Given the description of an element on the screen output the (x, y) to click on. 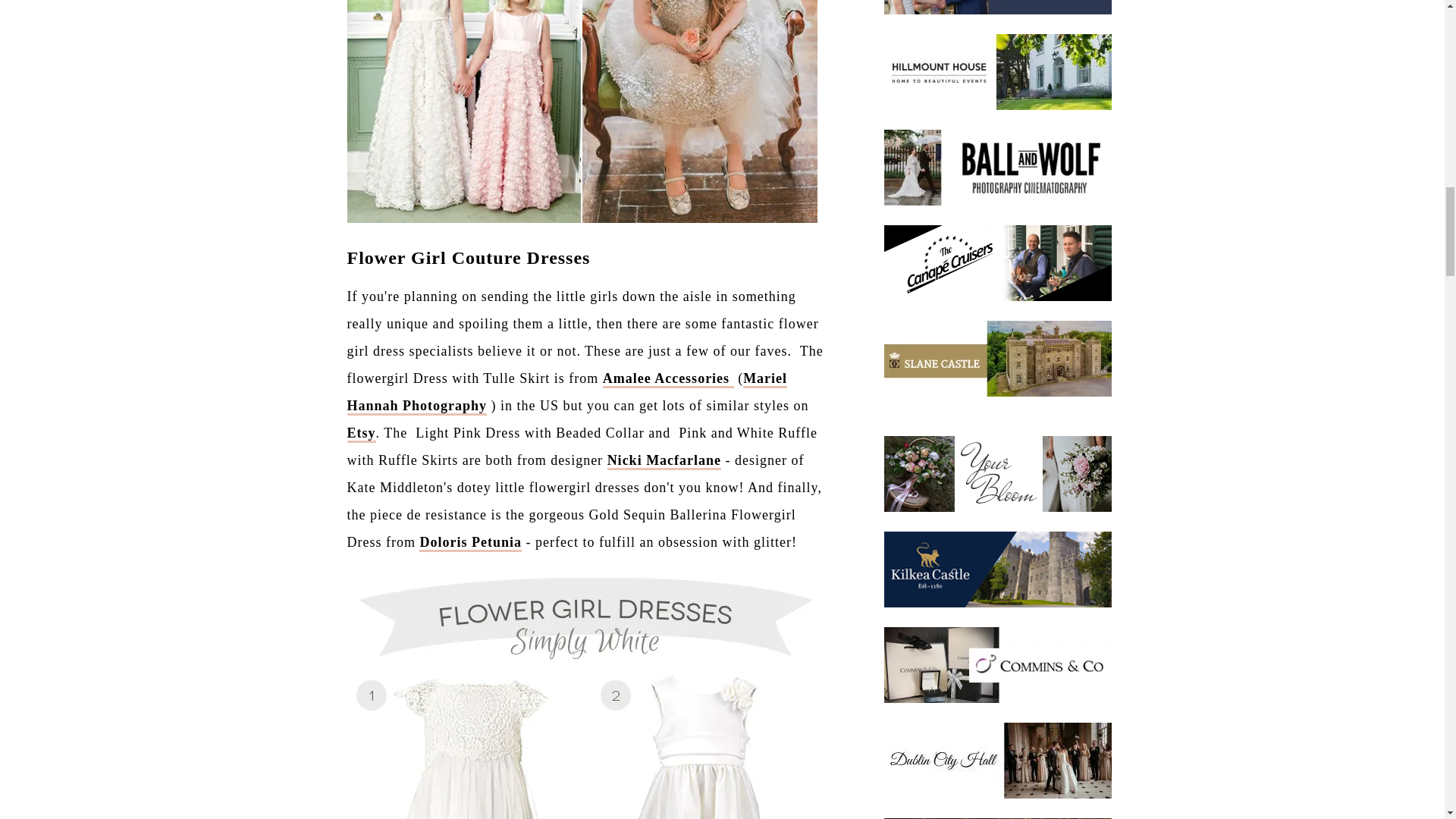
mariel hannah photography (567, 393)
pink satin flowergirl dress (663, 461)
flowergirl dresses and accessories (470, 543)
